Given the description of an element on the screen output the (x, y) to click on. 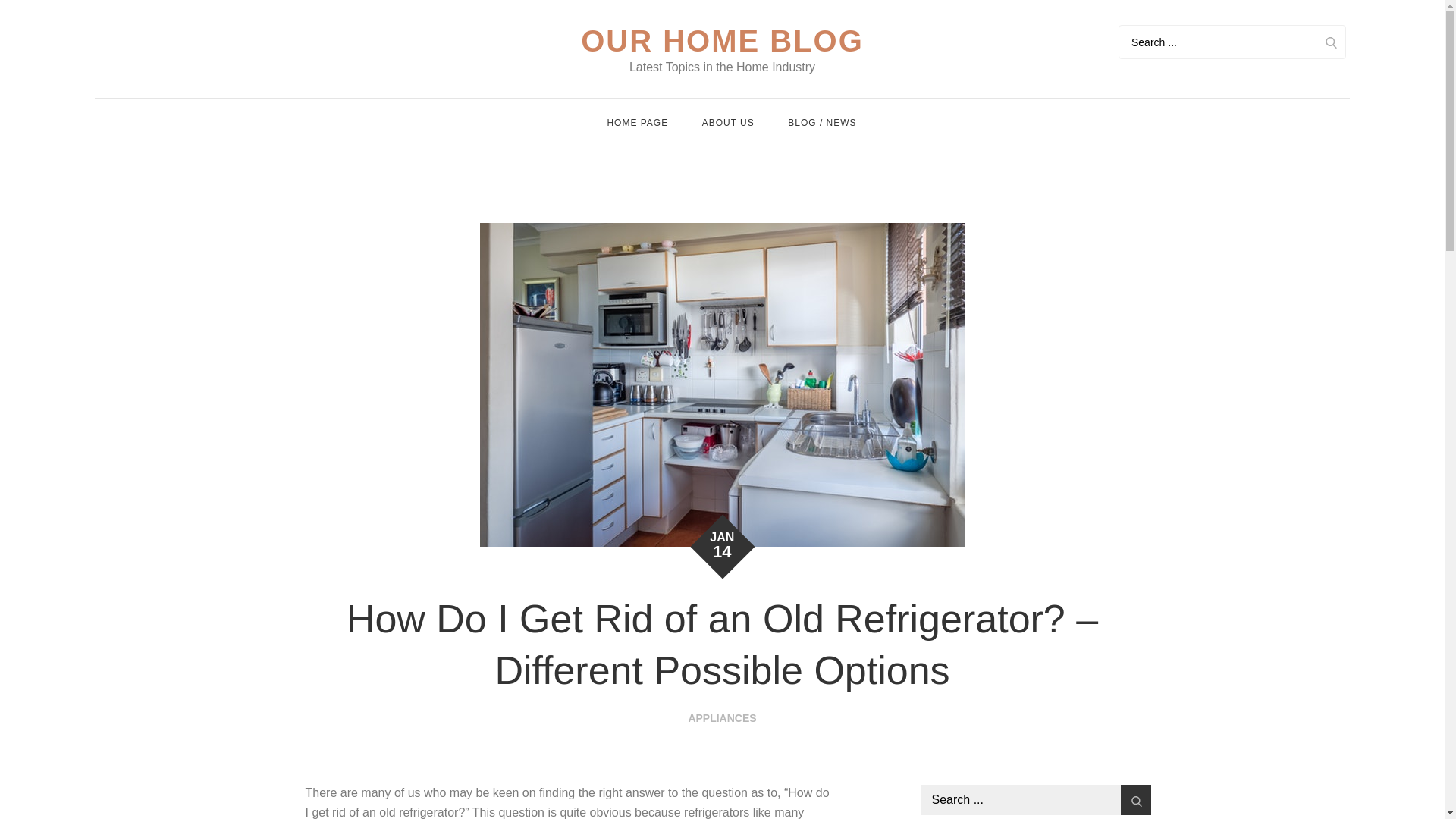
APPLIANCES (721, 717)
OUR HOME BLOG (721, 40)
Search (1136, 799)
Search for: (1231, 41)
Search for: (1035, 799)
HOME PAGE (636, 122)
ABOUT US (728, 122)
Search (1330, 41)
